Given the description of an element on the screen output the (x, y) to click on. 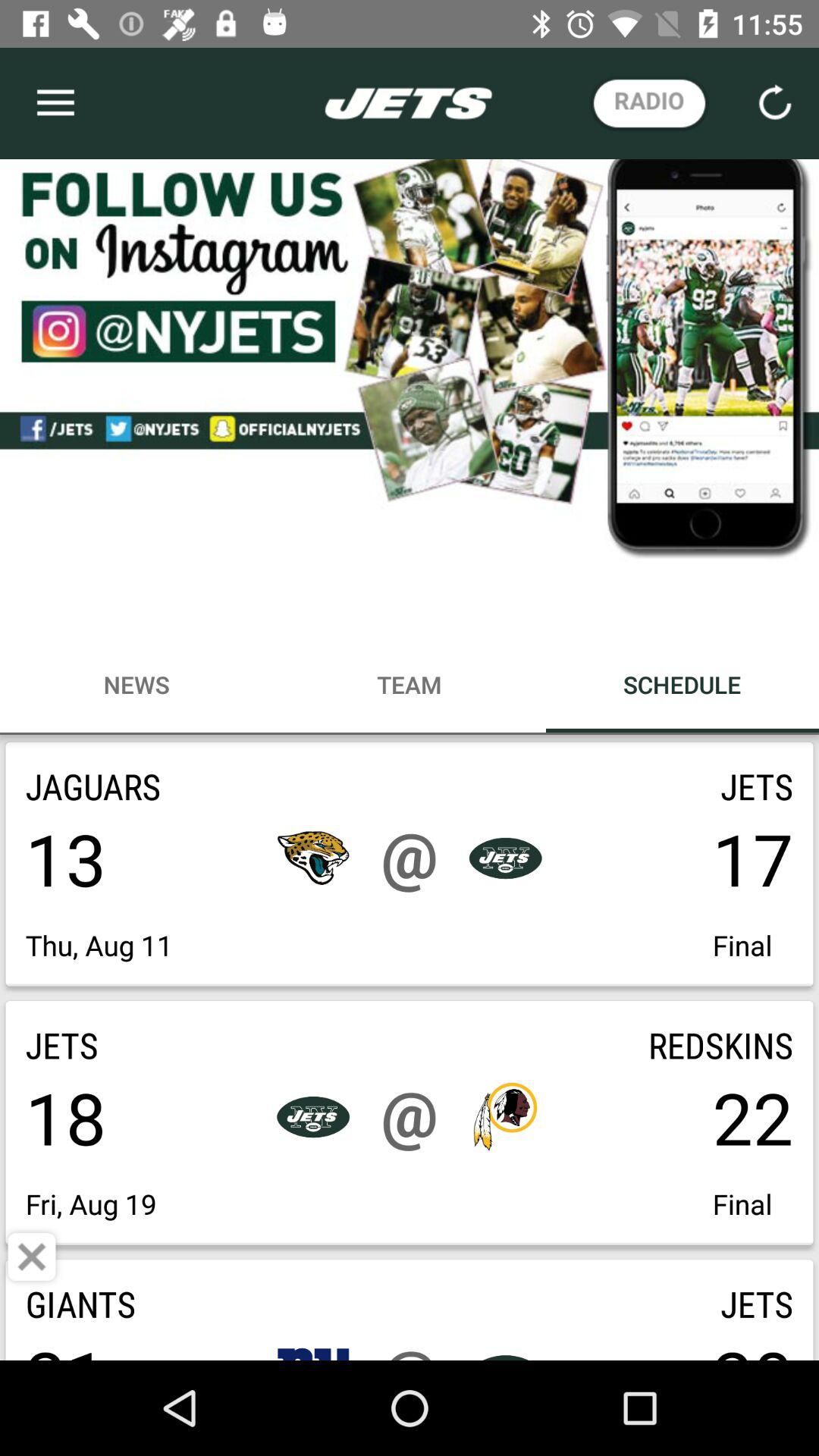
tap the item above the 21 (31, 1256)
